Given the description of an element on the screen output the (x, y) to click on. 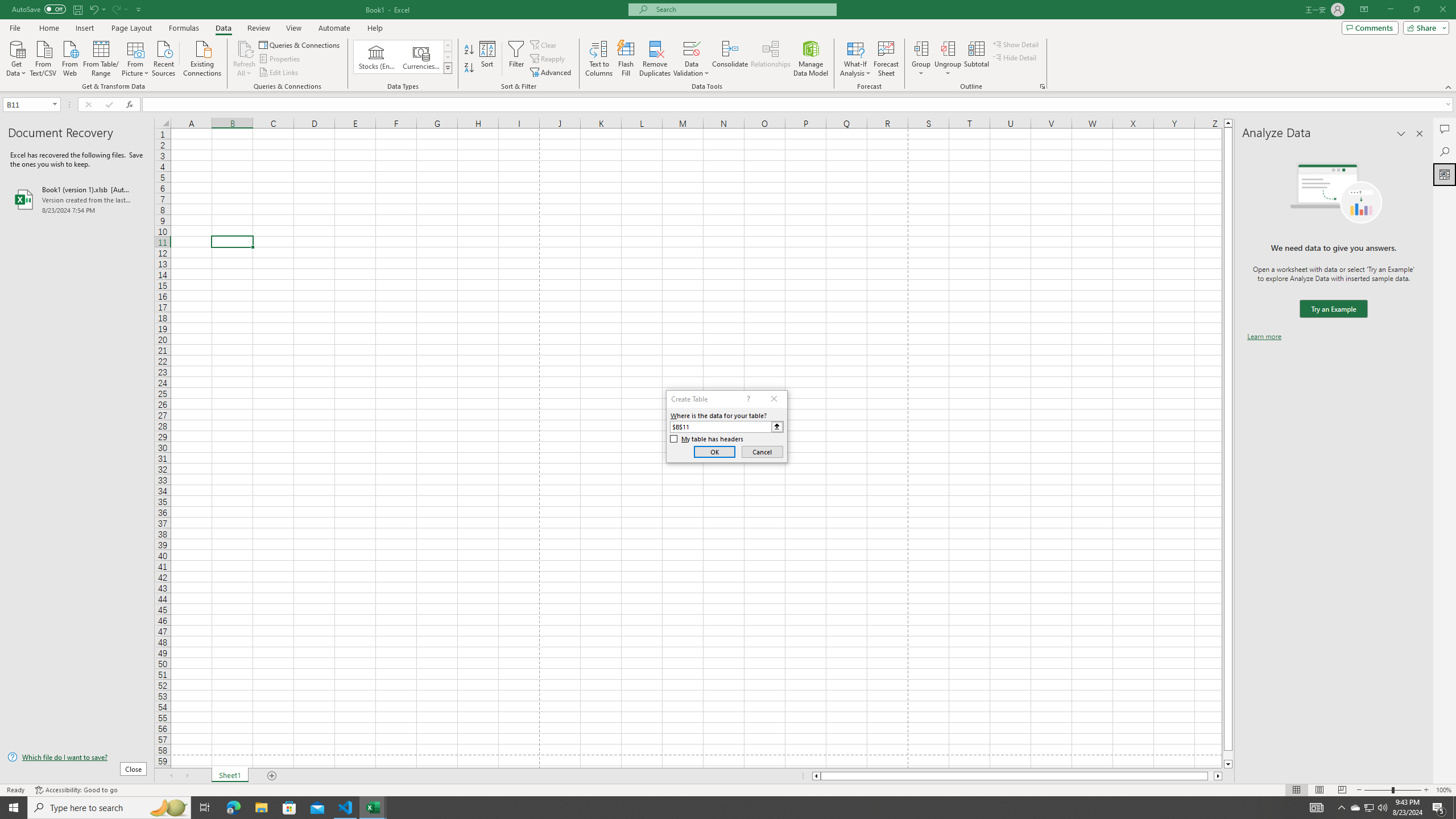
Row Down (448, 56)
Class: NetUIImage (447, 68)
Forecast Sheet (885, 58)
Task Pane Options (1400, 133)
Clear (544, 44)
Queries & Connections (300, 44)
Advanced... (551, 72)
Existing Connections (202, 57)
